Given the description of an element on the screen output the (x, y) to click on. 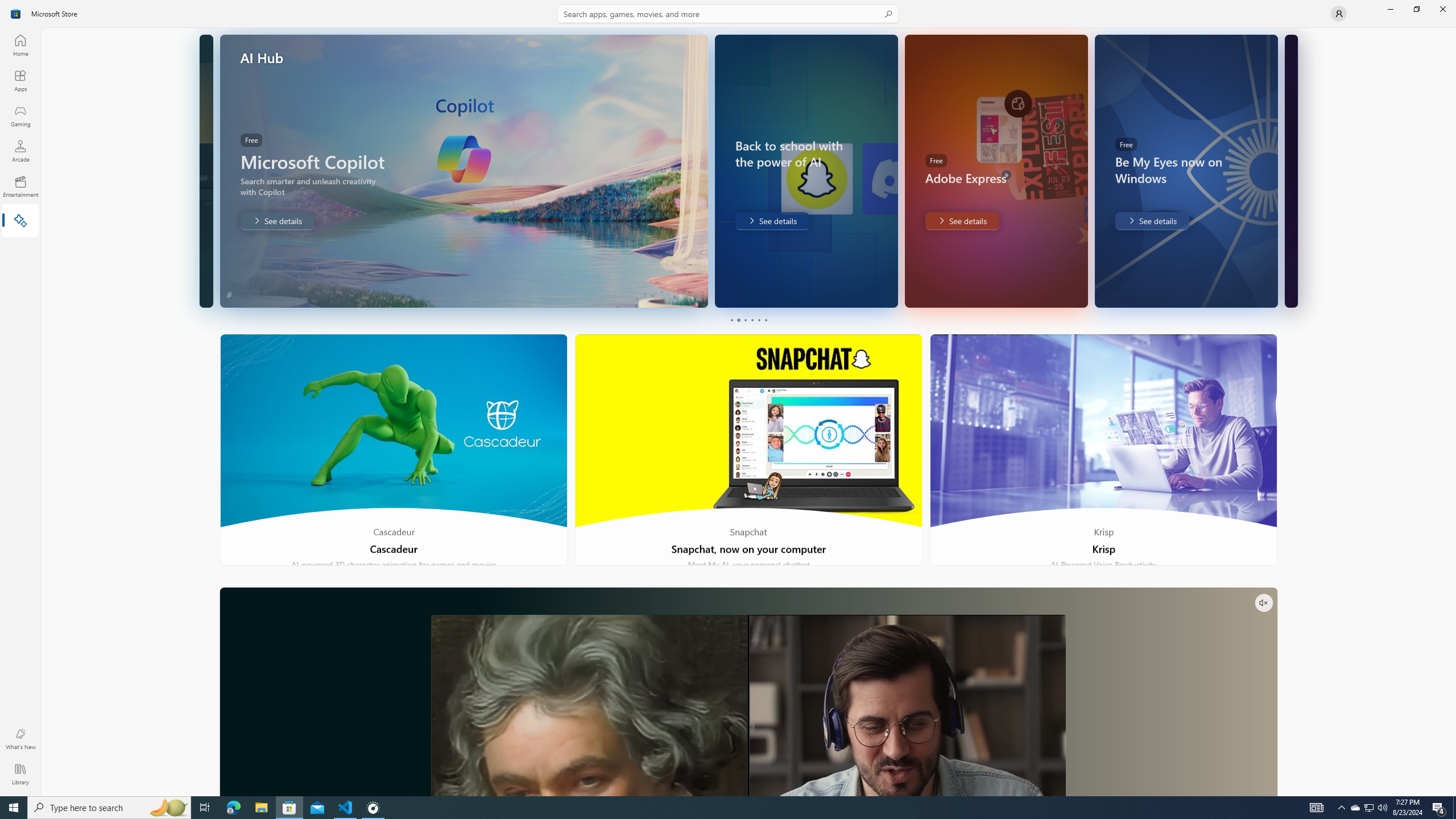
Snapchat, now on your computer (749, 449)
Krisp (1102, 449)
Page 6 (764, 319)
Pager (748, 319)
Gaming (20, 115)
Close Microsoft Store (1442, 9)
AutomationID: PosterImage (747, 705)
AutomationID: NavigationControl (728, 398)
Minimize Microsoft Store (1390, 9)
Search (727, 13)
Page 4 (751, 319)
Restore Microsoft Store (1416, 9)
Page 1 (731, 319)
